Given the description of an element on the screen output the (x, y) to click on. 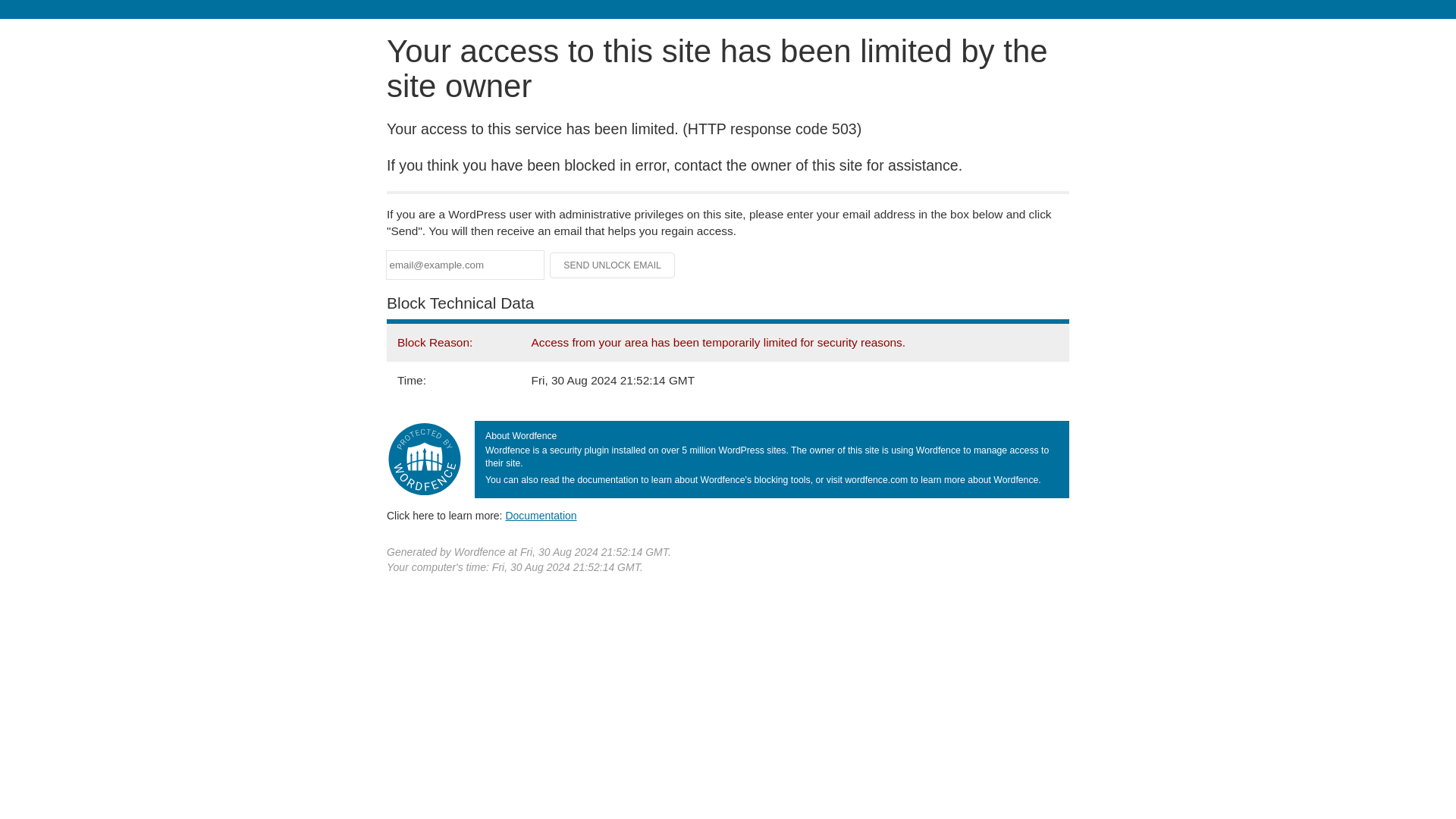
Send Unlock Email (612, 265)
Send Unlock Email (612, 265)
Documentation (540, 515)
